Given the description of an element on the screen output the (x, y) to click on. 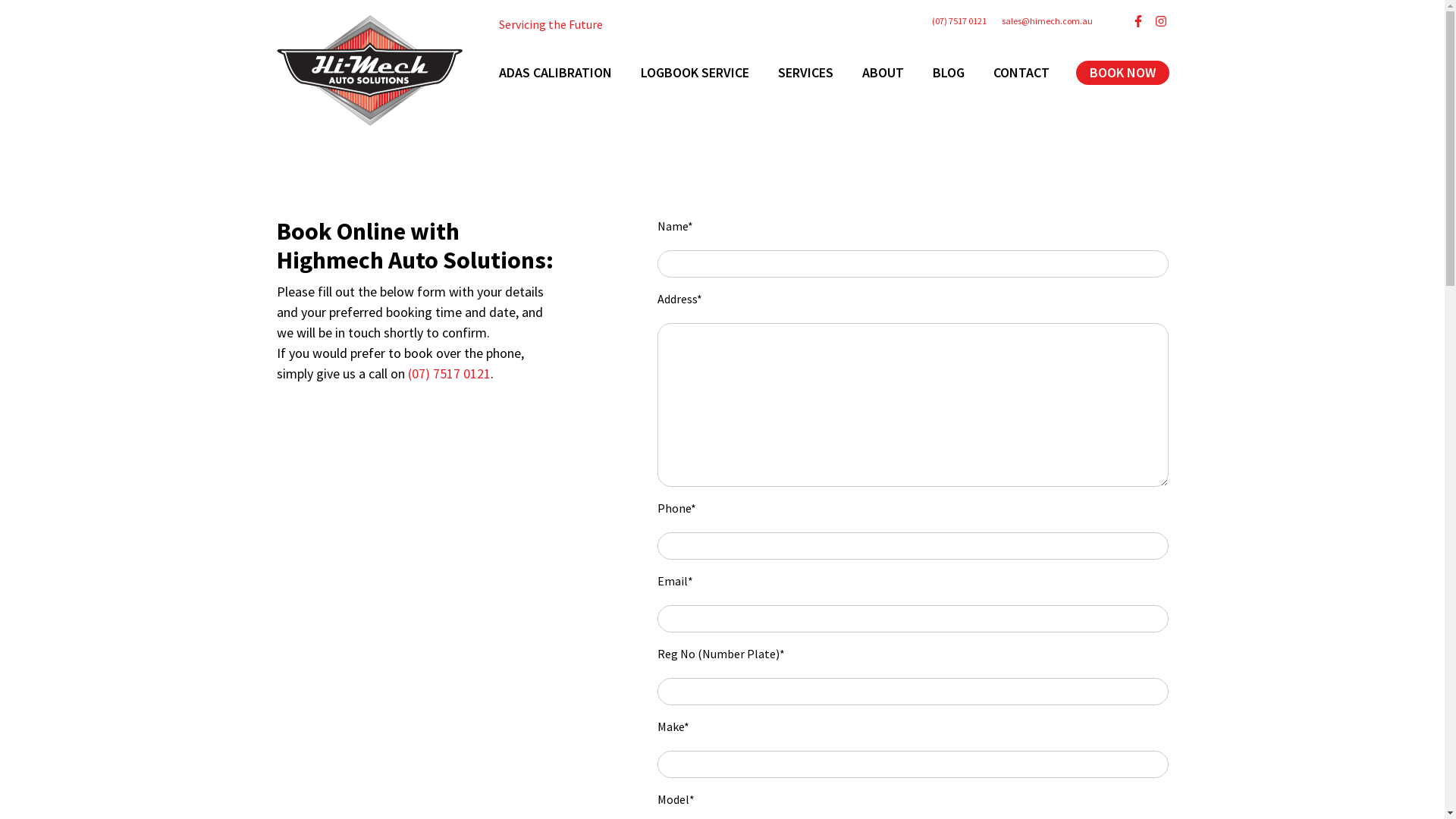
Submit Element type: text (13, 5)
SERVICES Element type: text (805, 72)
CONTACT Element type: text (1021, 72)
ADAS CALIBRATION Element type: text (555, 72)
BLOG Element type: text (948, 72)
(07) 7517 0121 Element type: text (448, 373)
(07) 7517 0121 Element type: text (958, 21)
View Hi-Mech Auto Solutions's Instagram Page Element type: hover (1159, 21)
LOGBOOK SERVICE Element type: text (694, 72)
ABOUT Element type: text (881, 72)
sales@himech.com.au Element type: text (1046, 21)
BOOK NOW Element type: text (1121, 72)
View Hi-Mech Auto Solutions's Facebook Page Element type: hover (1137, 21)
